Given the description of an element on the screen output the (x, y) to click on. 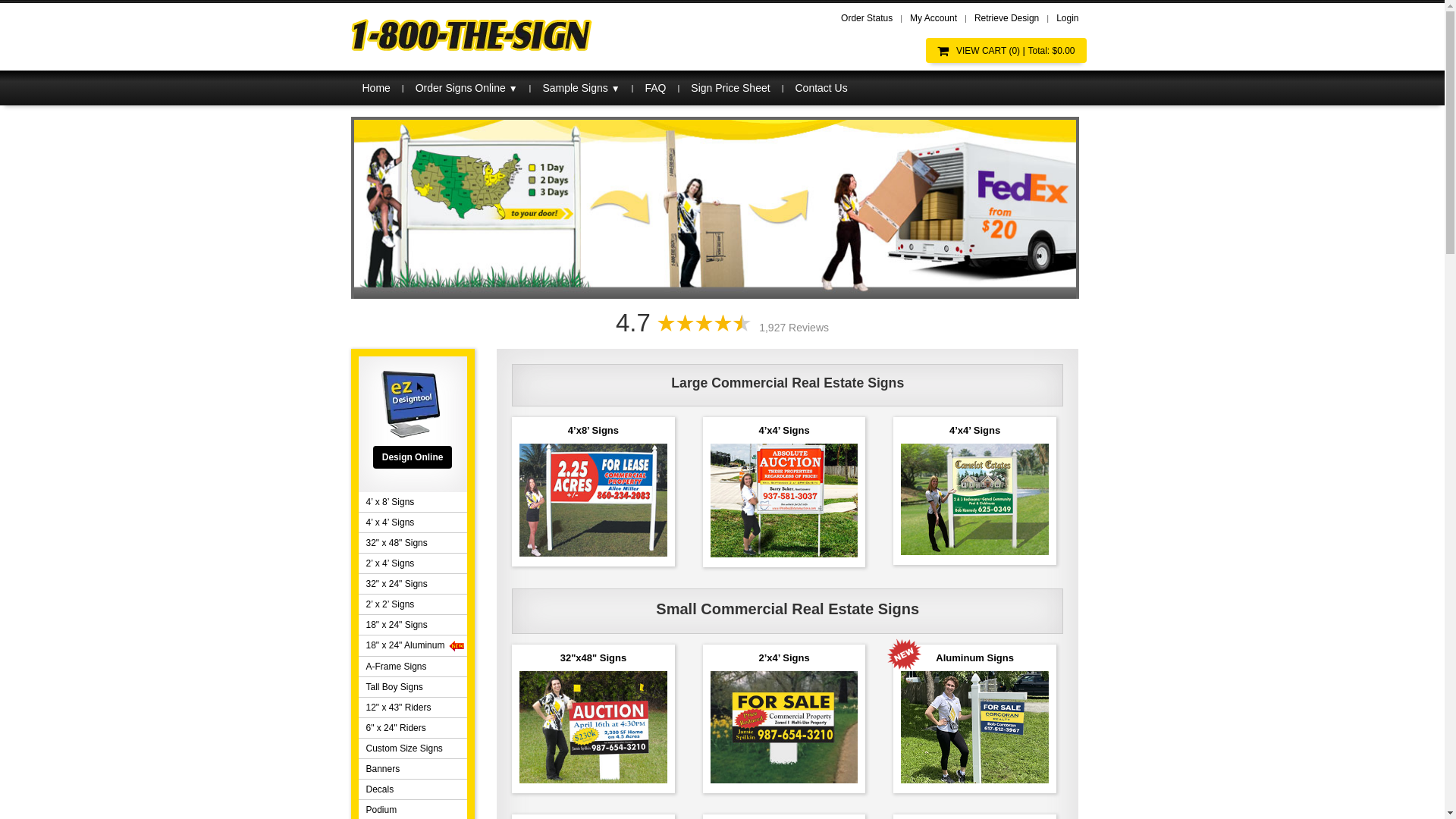
Order Status Element type: text (866, 18)
Retrieve Design Element type: text (1006, 18)
4.7 1,927 Reviews Element type: text (722, 322)
Sign Price Sheet Element type: text (730, 87)
Login Element type: text (1066, 18)
Home Element type: text (375, 87)
1,927 Reviews Element type: text (793, 327)
Banners Element type: text (411, 768)
32" x 24" Signs Element type: text (411, 583)
32" x 48" Signs Element type: text (411, 542)
My Account Element type: text (933, 18)
18" x 24" Aluminum Element type: text (411, 645)
FAQ Element type: text (655, 87)
12" x 43" Riders Element type: text (411, 707)
Tall Boy Signs Element type: text (411, 686)
1-800-The-Sign Element type: hover (471, 34)
6" x 24" Riders Element type: text (411, 727)
18" x 24" Signs Element type: text (411, 624)
Decals Element type: text (411, 789)
Contact Us Element type: text (820, 87)
  VIEW CART (0) | Total: $0.00 Element type: text (1005, 49)
Custom Size Signs Element type: text (411, 748)
Aluminum Signs Element type: text (974, 718)
Design Online Element type: text (412, 456)
A-Frame Signs Element type: text (411, 666)
32"x48" Signs Element type: text (592, 718)
